Given the description of an element on the screen output the (x, y) to click on. 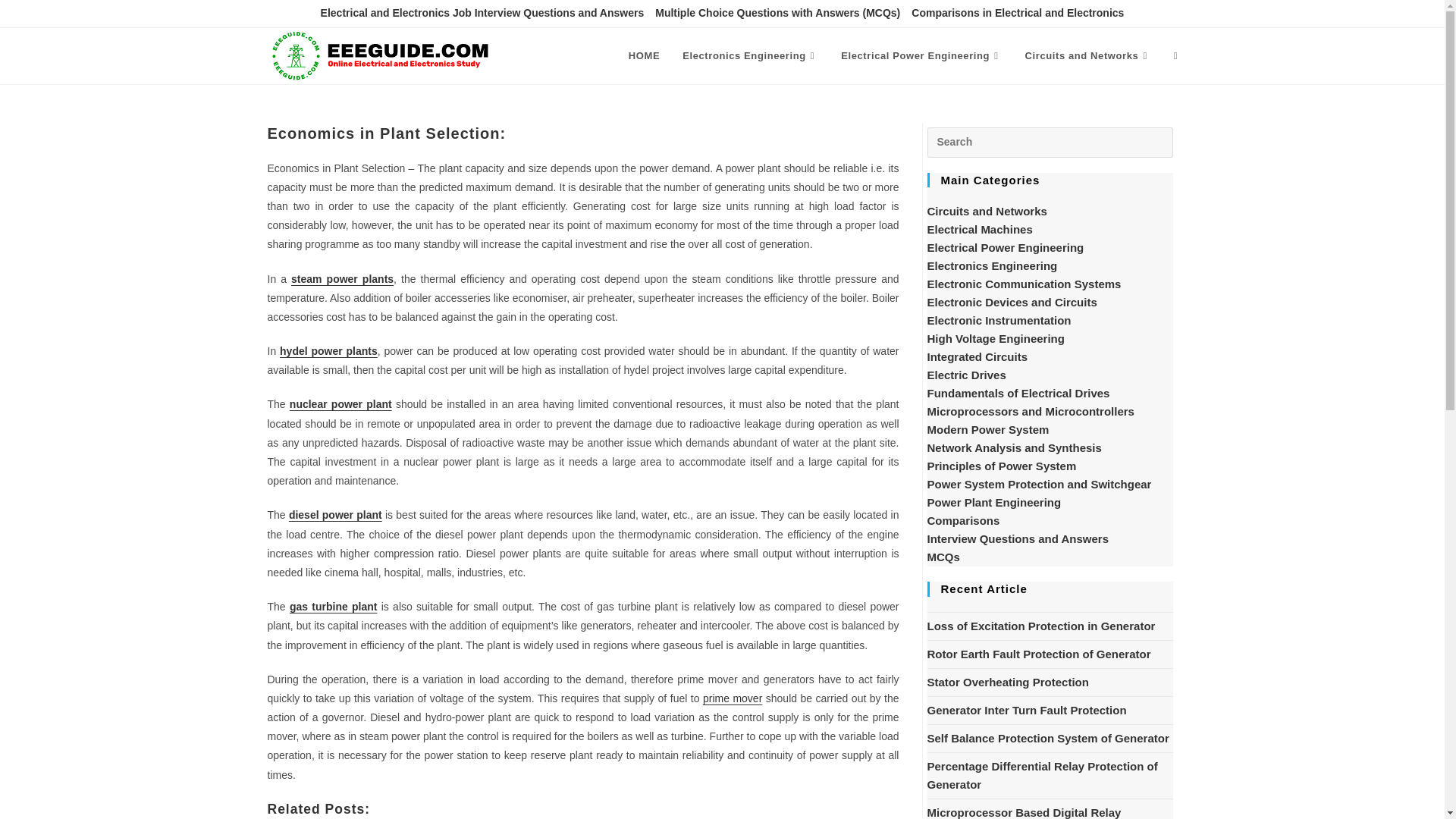
Electronics Engineering (750, 55)
Circuits and Networks (1087, 55)
Electrical Power Engineering (921, 55)
Comparisons in Electrical and Electronics (1017, 13)
HOME (644, 55)
